Given the description of an element on the screen output the (x, y) to click on. 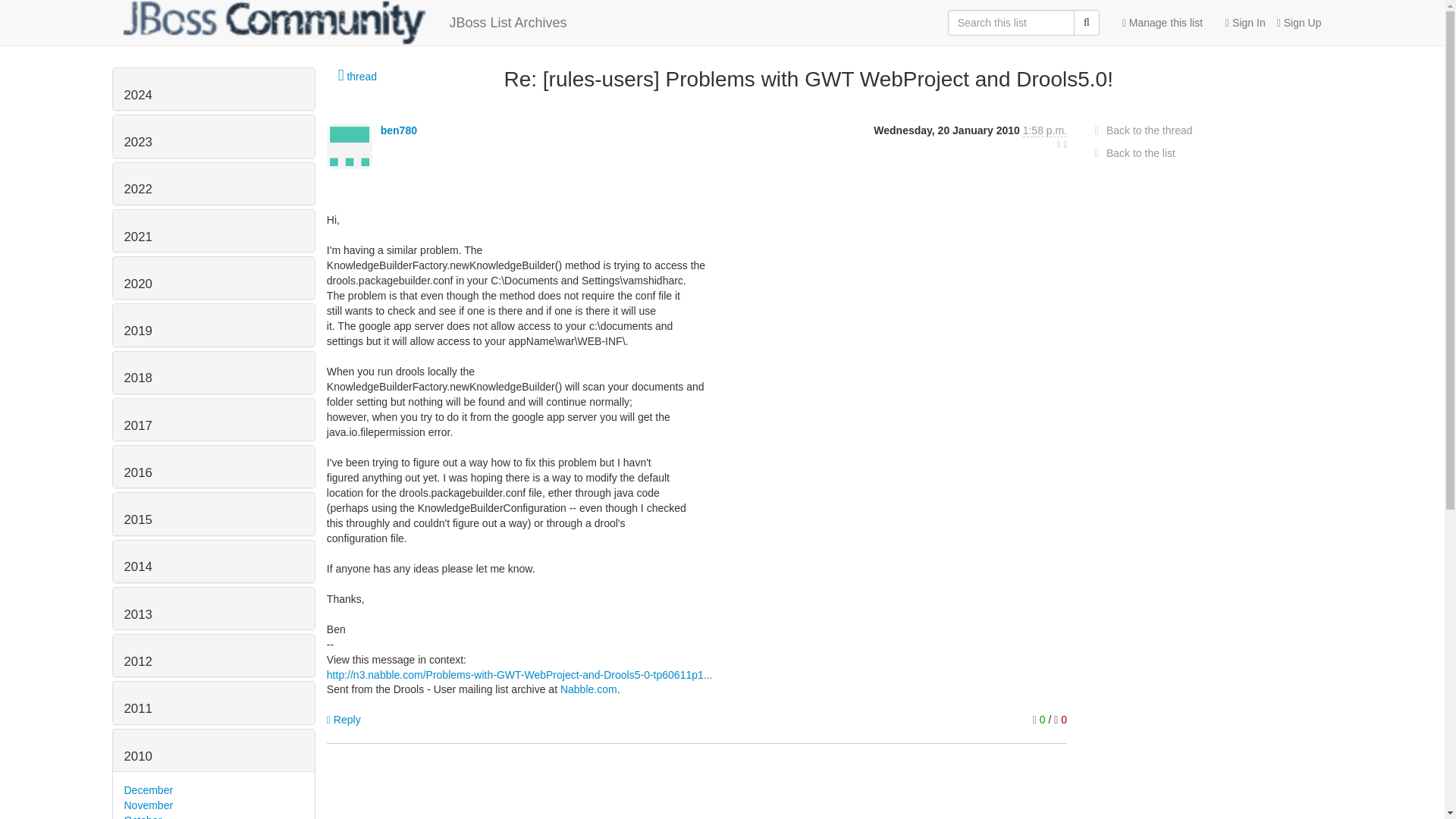
JBoss List Archives (345, 22)
Sign in to reply online (343, 719)
Manage this list (1162, 22)
2023 (137, 142)
See the profile for ben780 (398, 130)
Sign Up (1293, 22)
You must be logged-in to vote. (1060, 719)
2024 (137, 94)
You must be logged-in to vote. (1040, 719)
2022 (137, 188)
Sign In (1239, 22)
Sender's time: Jan. 20, 2010, 10:58 a.m. (1045, 130)
JBoss List Archives (345, 22)
